Given the description of an element on the screen output the (x, y) to click on. 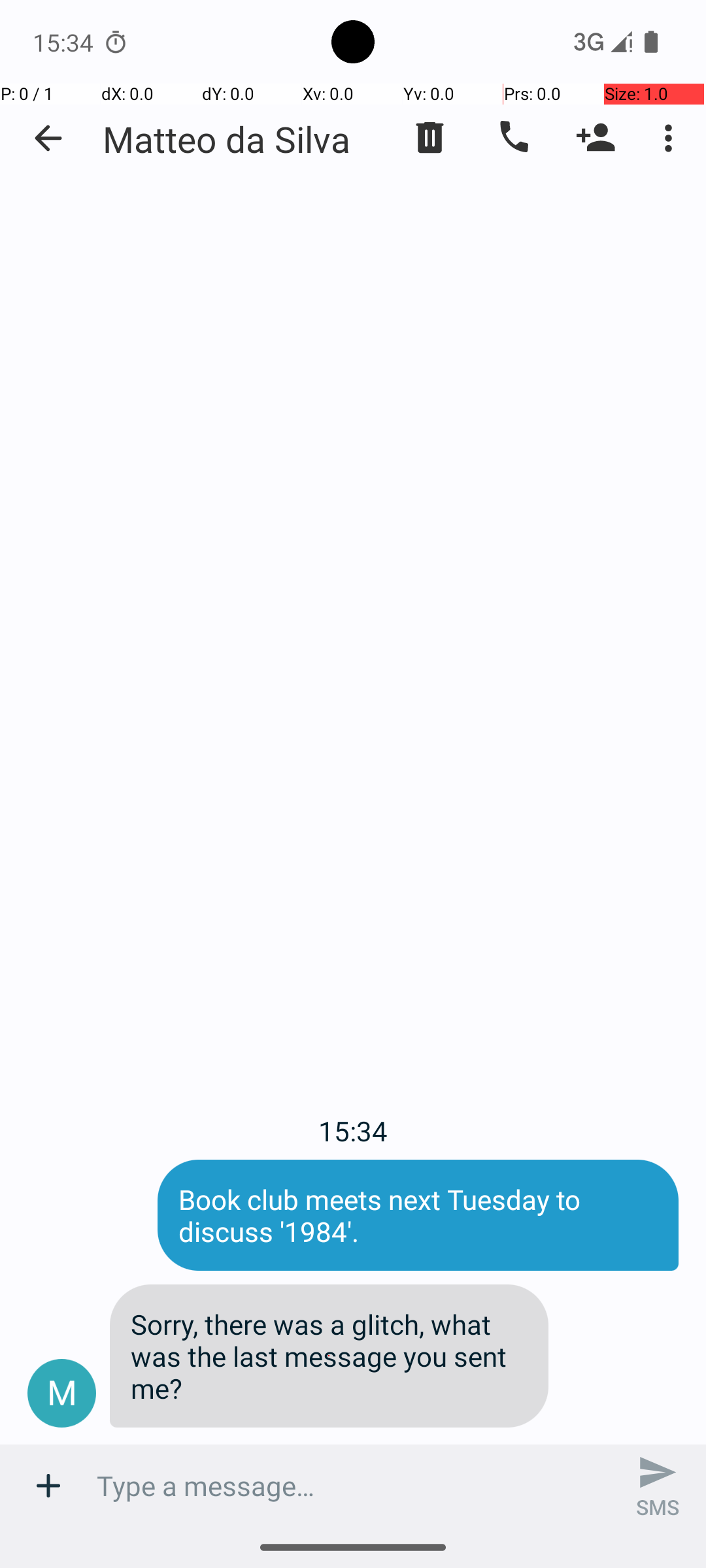
Matteo da Silva Element type: android.widget.TextView (226, 138)
